Given the description of an element on the screen output the (x, y) to click on. 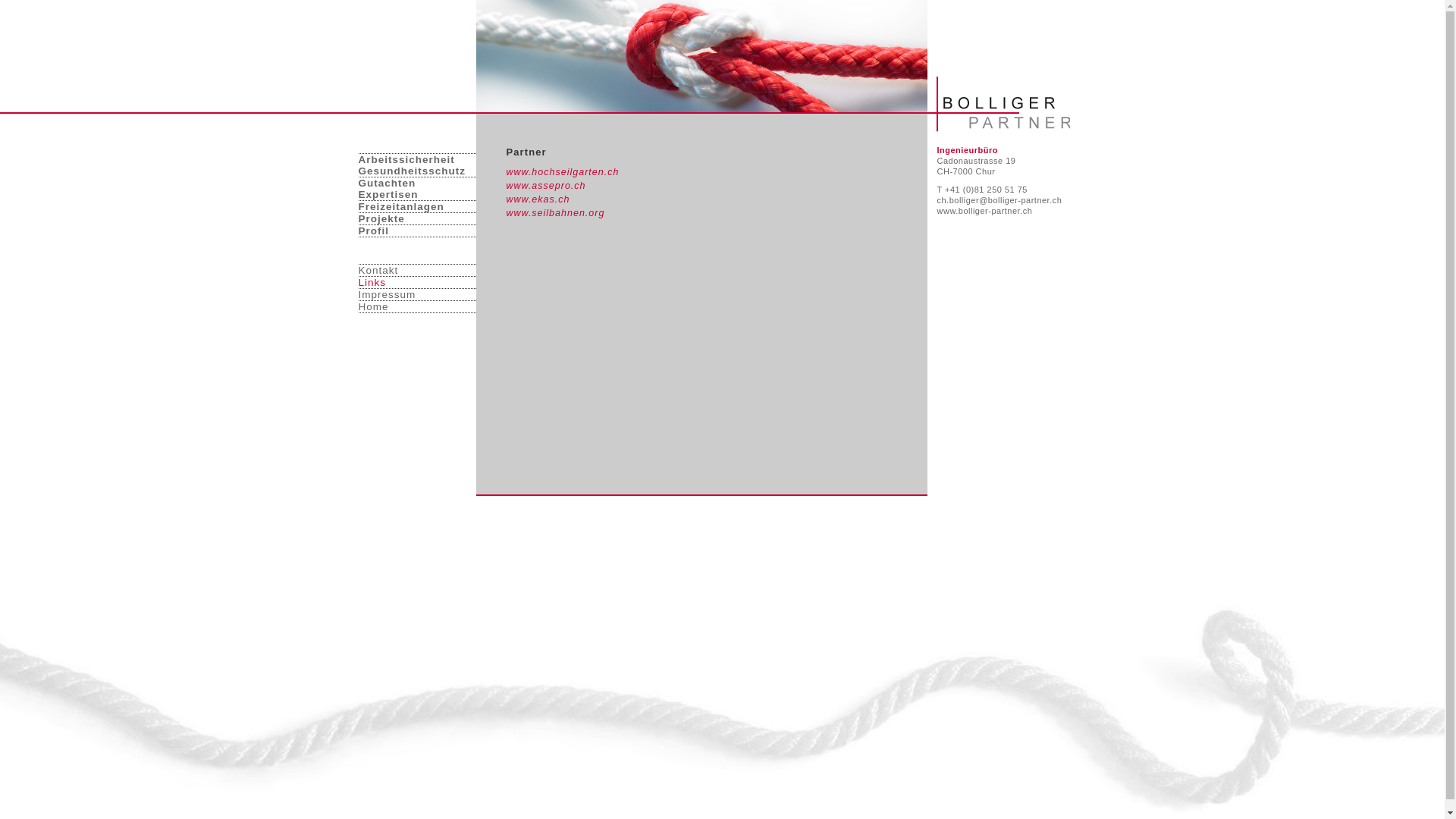
www.ekas.ch Element type: text (538, 199)
Arbeitssicherheit
Gesundheitsschutz Element type: text (416, 164)
Projekte Element type: text (416, 218)
Home Element type: text (416, 307)
ch.bolliger@bolliger-partner.ch Element type: text (999, 199)
bolliger-partner.ch Element type: hover (747, 56)
Links Element type: text (416, 282)
www.hochseilgarten.ch Element type: text (562, 171)
Gutachten
Expertisen Element type: text (416, 188)
Kontakt Element type: text (416, 269)
www.assepro.ch Element type: text (546, 185)
www.seilbahnen.org Element type: text (555, 212)
Freizeitanlagen Element type: text (416, 206)
Profil Element type: text (416, 230)
Impressum Element type: text (416, 294)
